Given the description of an element on the screen output the (x, y) to click on. 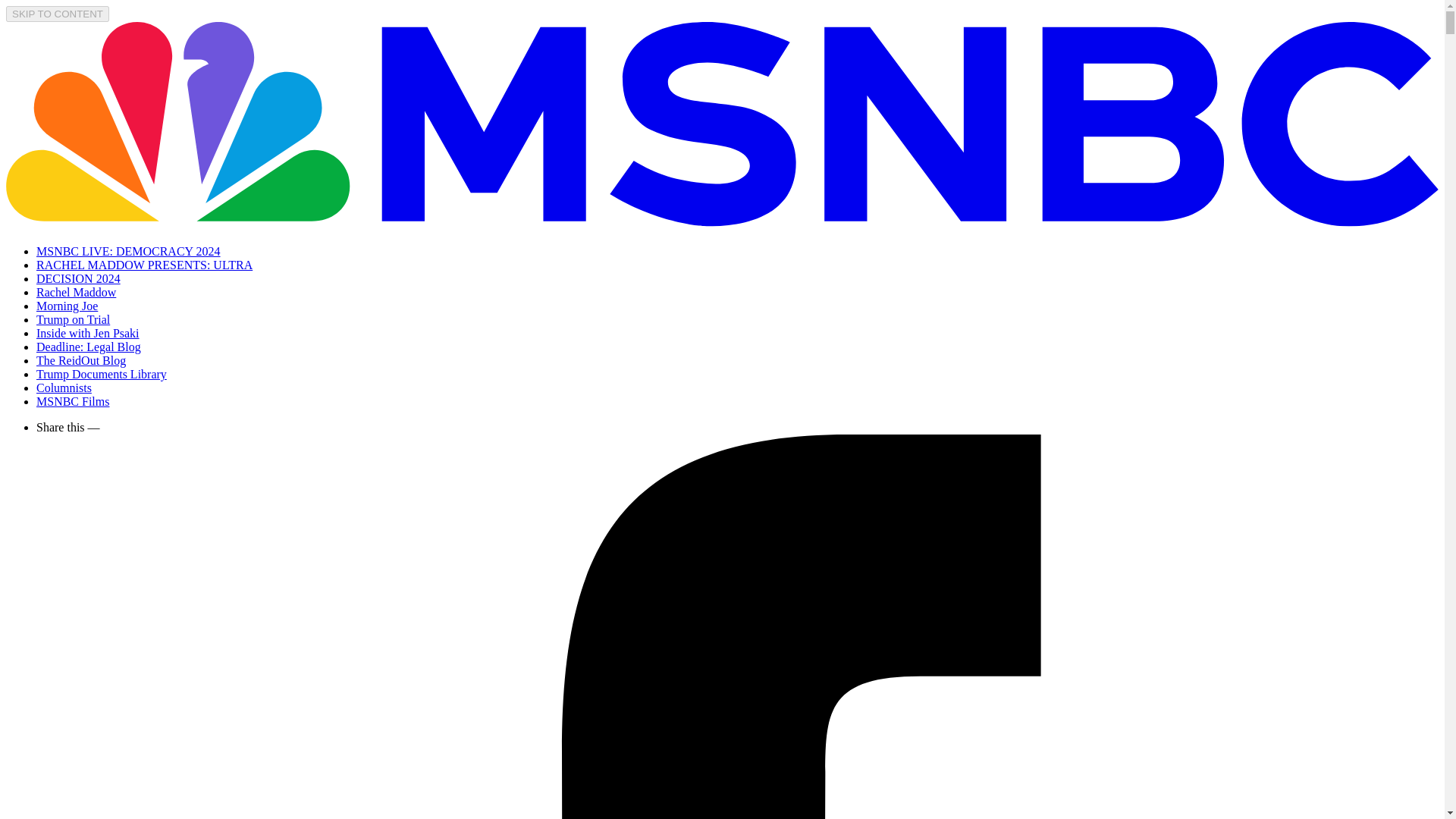
Trump on Trial (73, 318)
Inside with Jen Psaki (87, 332)
Morning Joe (66, 305)
Columnists (63, 387)
MSNBC LIVE: DEMOCRACY 2024 (128, 250)
MSNBC Films (72, 400)
Rachel Maddow (76, 291)
The ReidOut Blog (80, 359)
RACHEL MADDOW PRESENTS: ULTRA (143, 264)
Deadline: Legal Blog (88, 346)
DECISION 2024 (78, 278)
Trump Documents Library (101, 373)
SKIP TO CONTENT (57, 13)
